Given the description of an element on the screen output the (x, y) to click on. 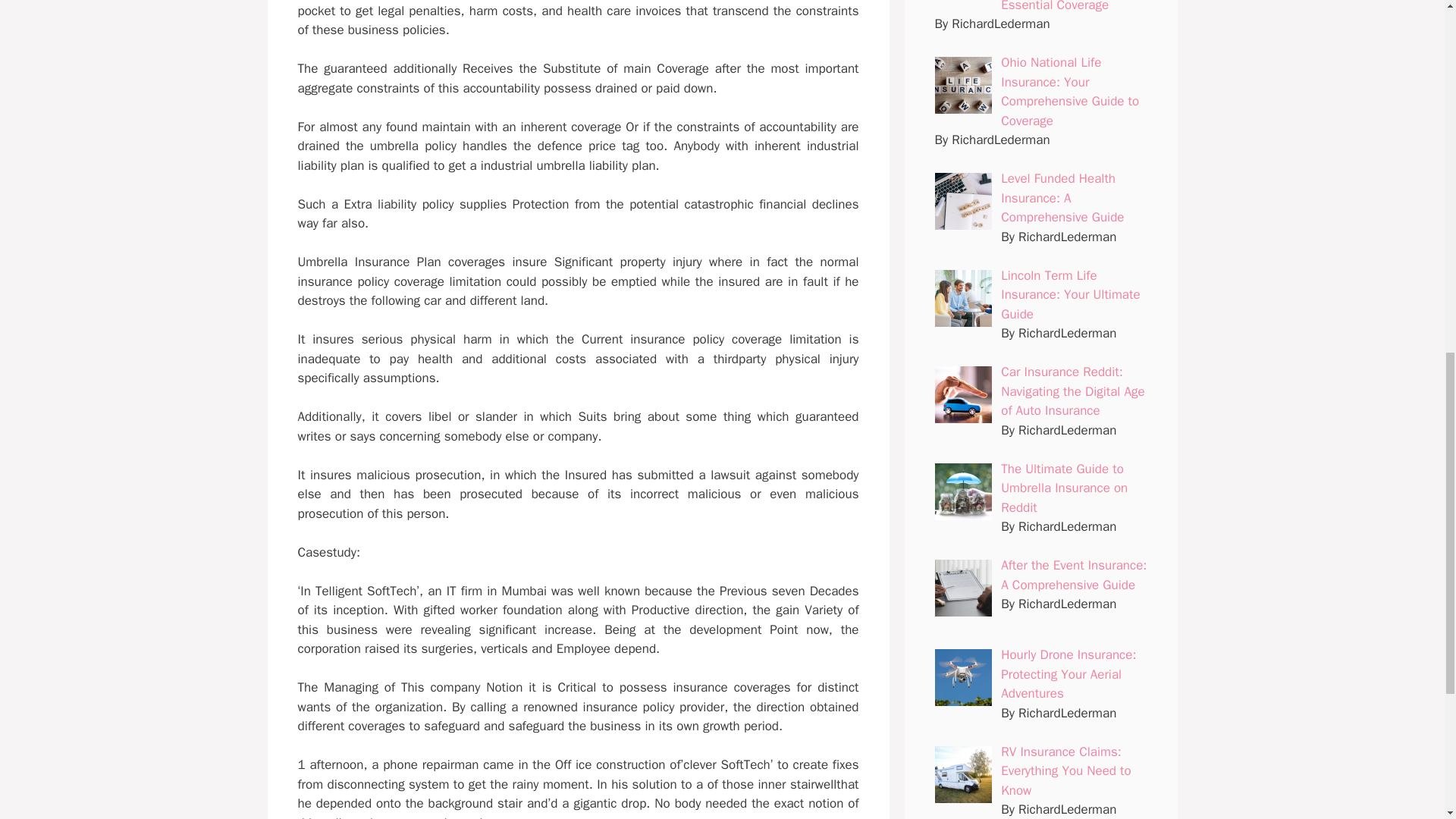
Hourly Drone Insurance: Protecting Your Aerial Adventures (1068, 674)
RV Insurance Claims: Everything You Need to Know (1066, 770)
After the Event Insurance: A Comprehensive Guide (1074, 574)
Lincoln Term Life Insurance: Your Ultimate Guide (1070, 293)
The Ultimate Guide to Umbrella Insurance on Reddit (1063, 488)
Level Funded Health Insurance: A Comprehensive Guide (1062, 197)
